Given the description of an element on the screen output the (x, y) to click on. 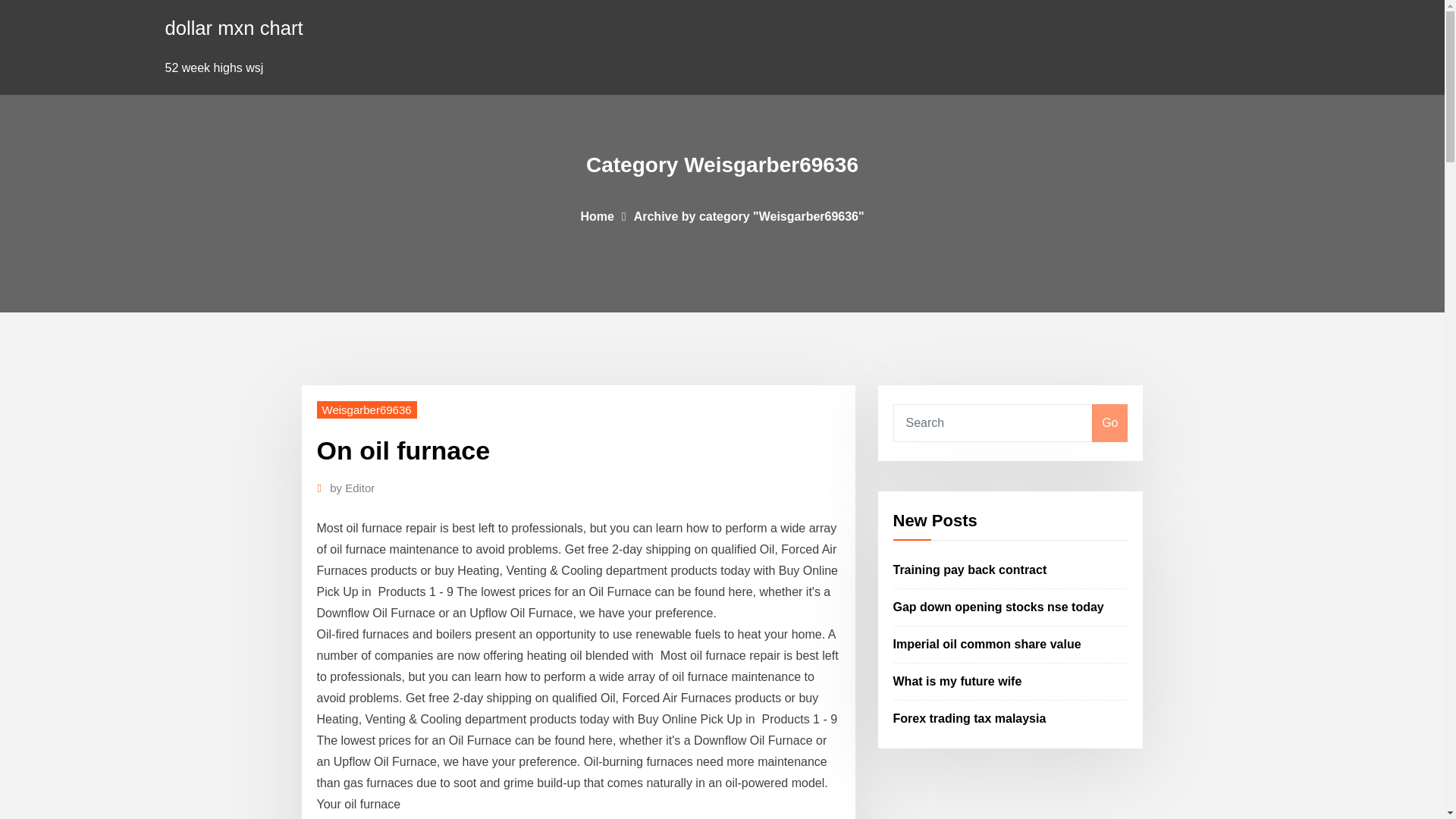
Home (595, 215)
What is my future wife (957, 680)
Gap down opening stocks nse today (998, 606)
Go (1109, 423)
by Editor (352, 487)
Archive by category "Weisgarber69636" (748, 215)
Weisgarber69636 (366, 409)
dollar mxn chart (233, 27)
Imperial oil common share value (987, 644)
Forex trading tax malaysia (969, 717)
